Given the description of an element on the screen output the (x, y) to click on. 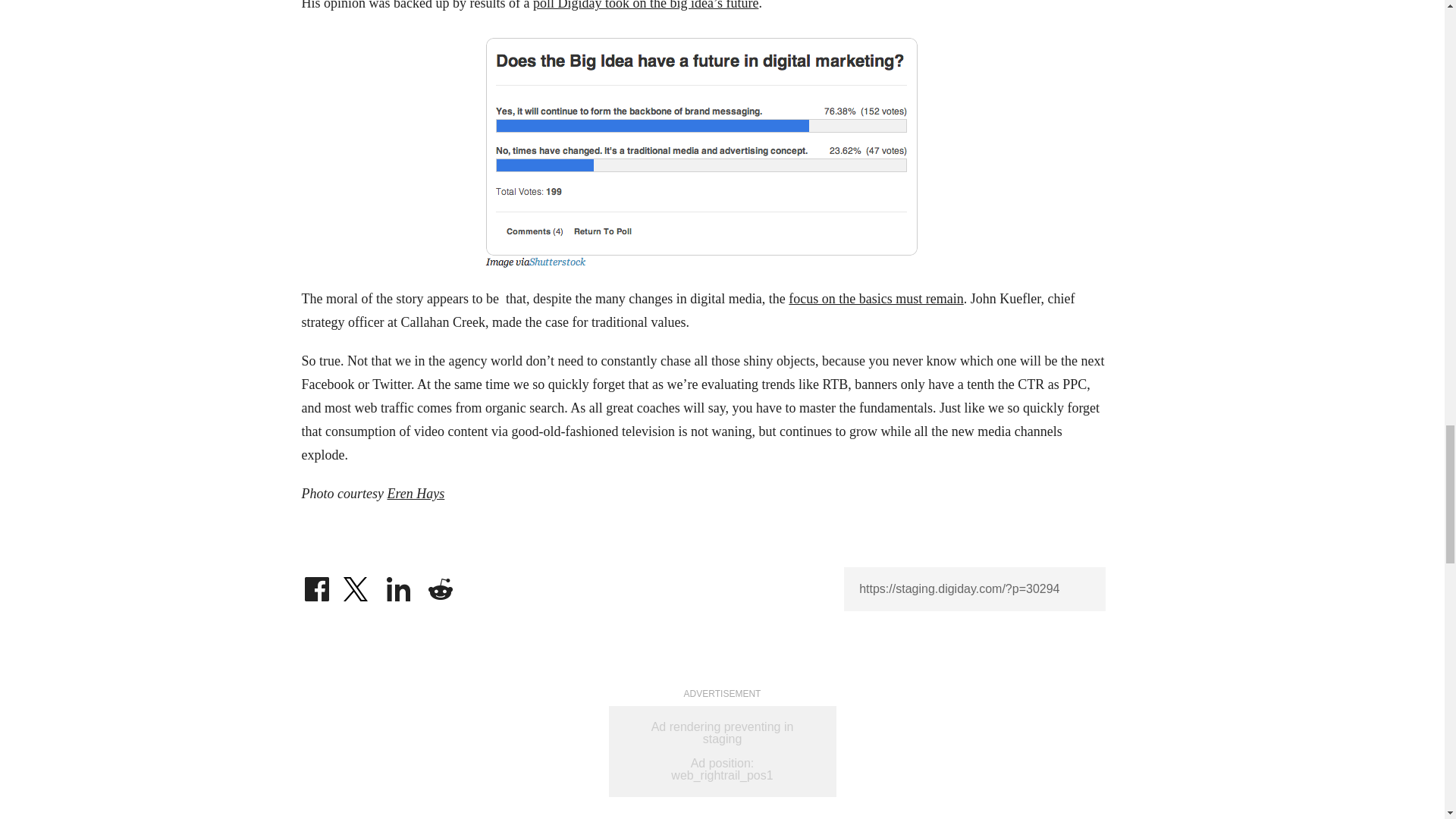
Share on Twitter (357, 579)
Share on LinkedIn (398, 579)
Screen Shot 2013-01-24 at 1.21.32 PM (702, 150)
Share on Reddit (440, 579)
Share on Facebook (316, 579)
